Given the description of an element on the screen output the (x, y) to click on. 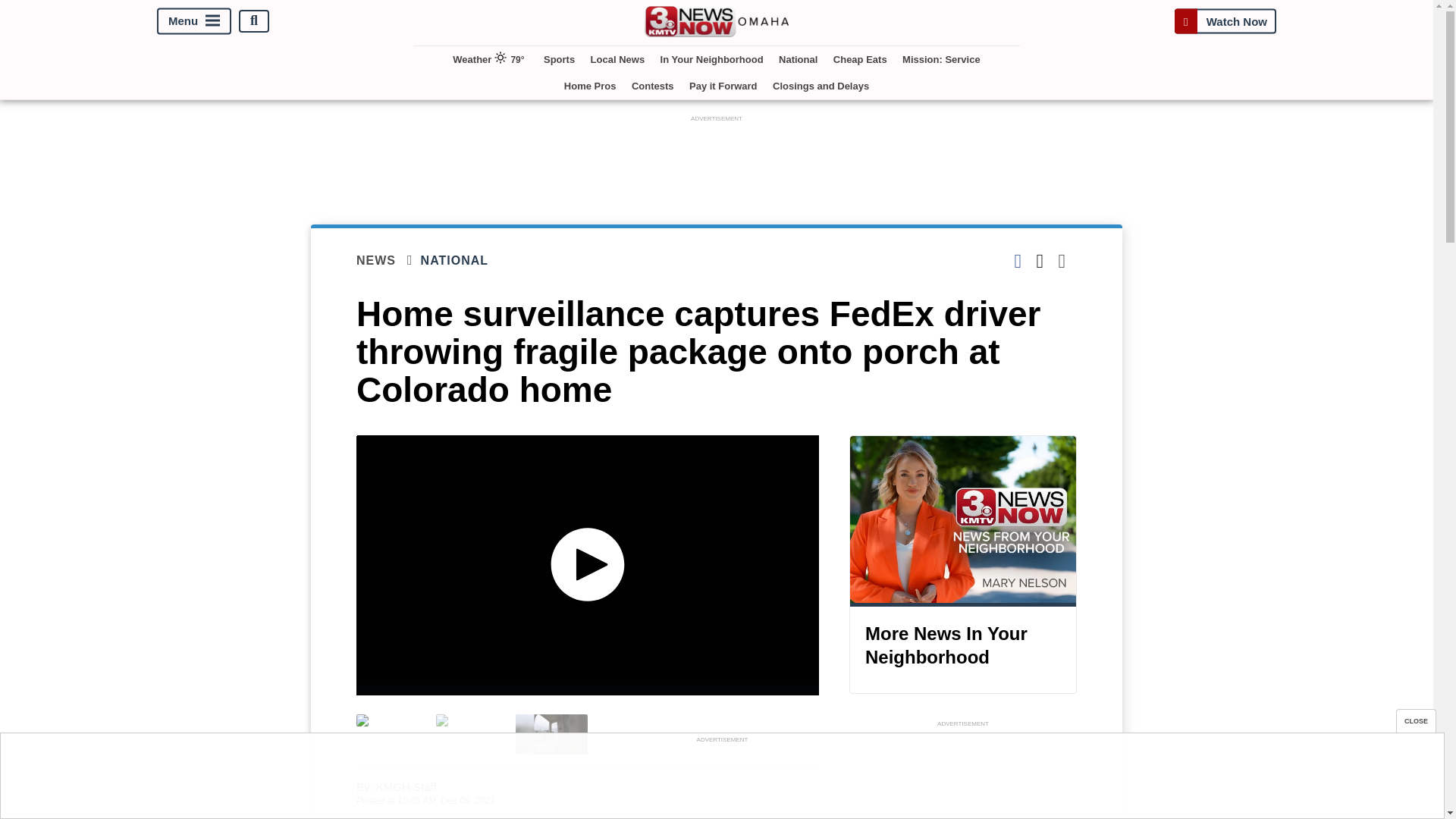
Watch Now (1224, 20)
Menu (194, 20)
3rd party ad content (962, 775)
3rd party ad content (716, 160)
3rd party ad content (721, 780)
